Given the description of an element on the screen output the (x, y) to click on. 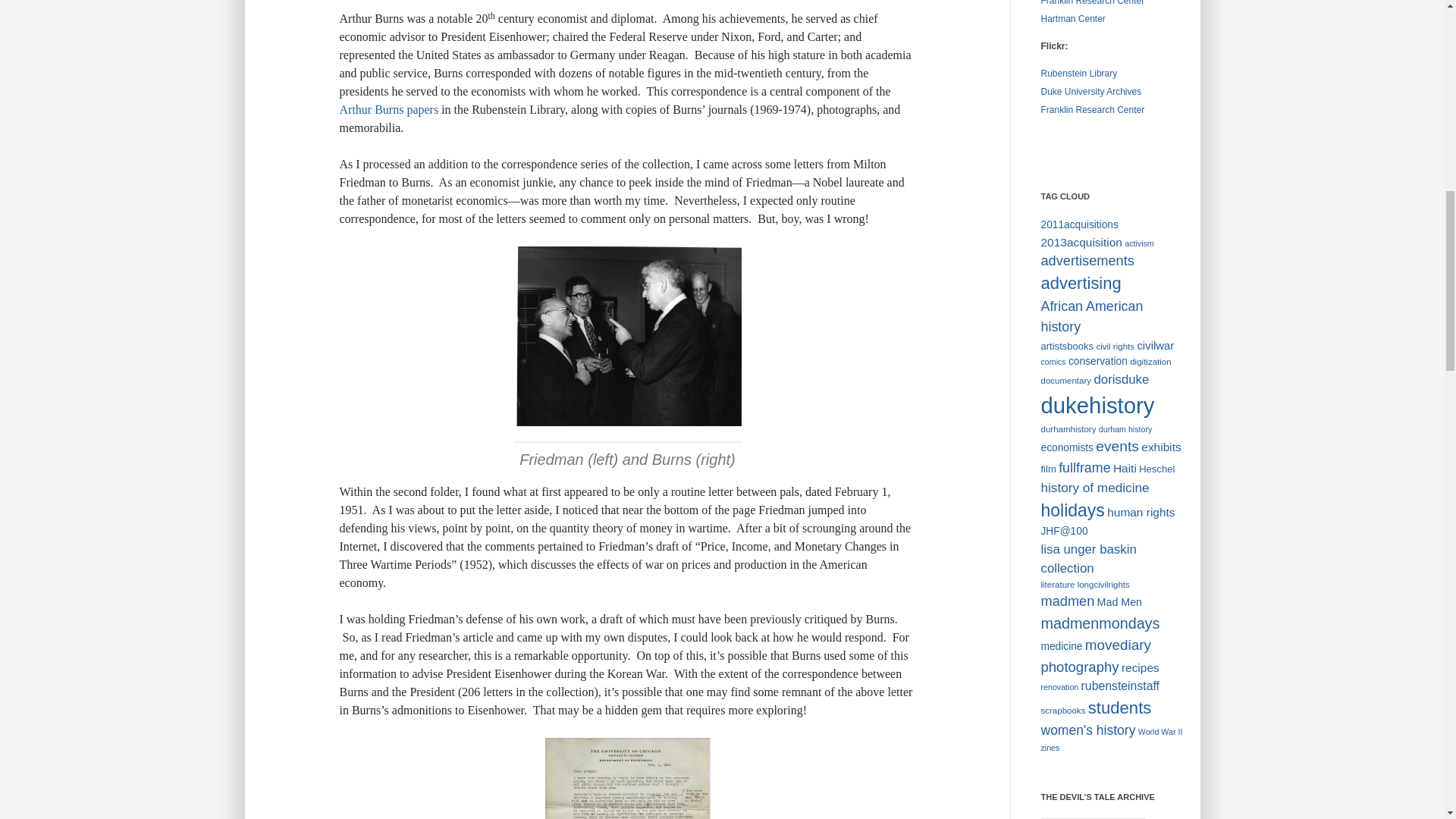
Rubenstein Library (1078, 72)
Hartman Center (1073, 18)
Duke University Archives (1091, 91)
Franklin Research Center (1092, 2)
Arthur Burns papers (389, 109)
